Given the description of an element on the screen output the (x, y) to click on. 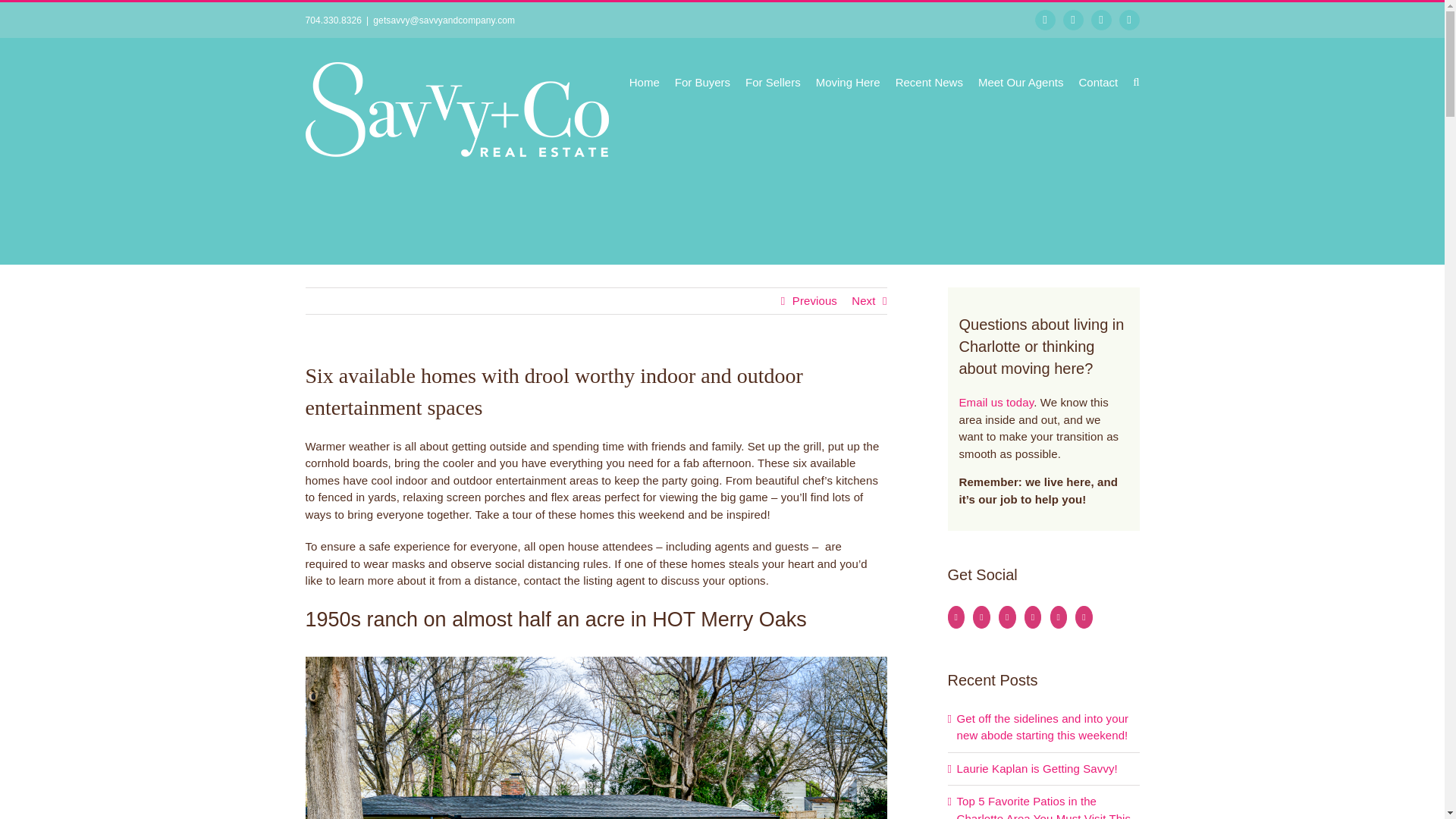
Instagram (1072, 19)
Previous (814, 300)
LinkedIn (1129, 19)
Facebook (1045, 19)
Meet Our Agents (1021, 80)
YouTube (1101, 19)
Next (863, 300)
